Given the description of an element on the screen output the (x, y) to click on. 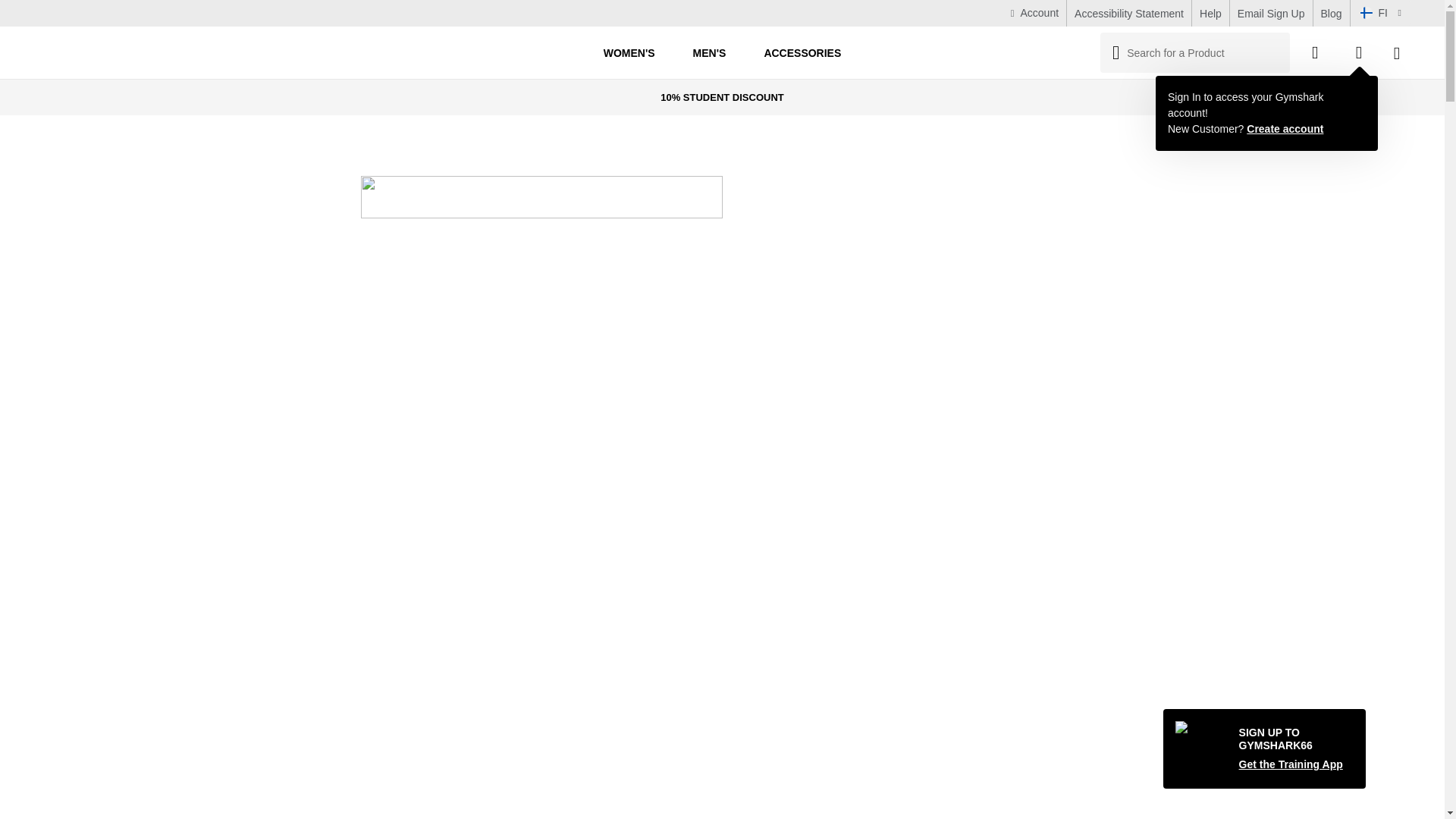
Account (1034, 13)
Women's  (629, 52)
Blog (1331, 12)
Blog (1331, 12)
Help (1210, 12)
Email Sign Up  (1270, 12)
Accessibility Statement (1128, 12)
account (1034, 13)
WOMEN'S (629, 52)
Email Sign Up (1270, 12)
Help (1210, 12)
Accessibility Statement (1128, 12)
Gymshark (62, 53)
